Given the description of an element on the screen output the (x, y) to click on. 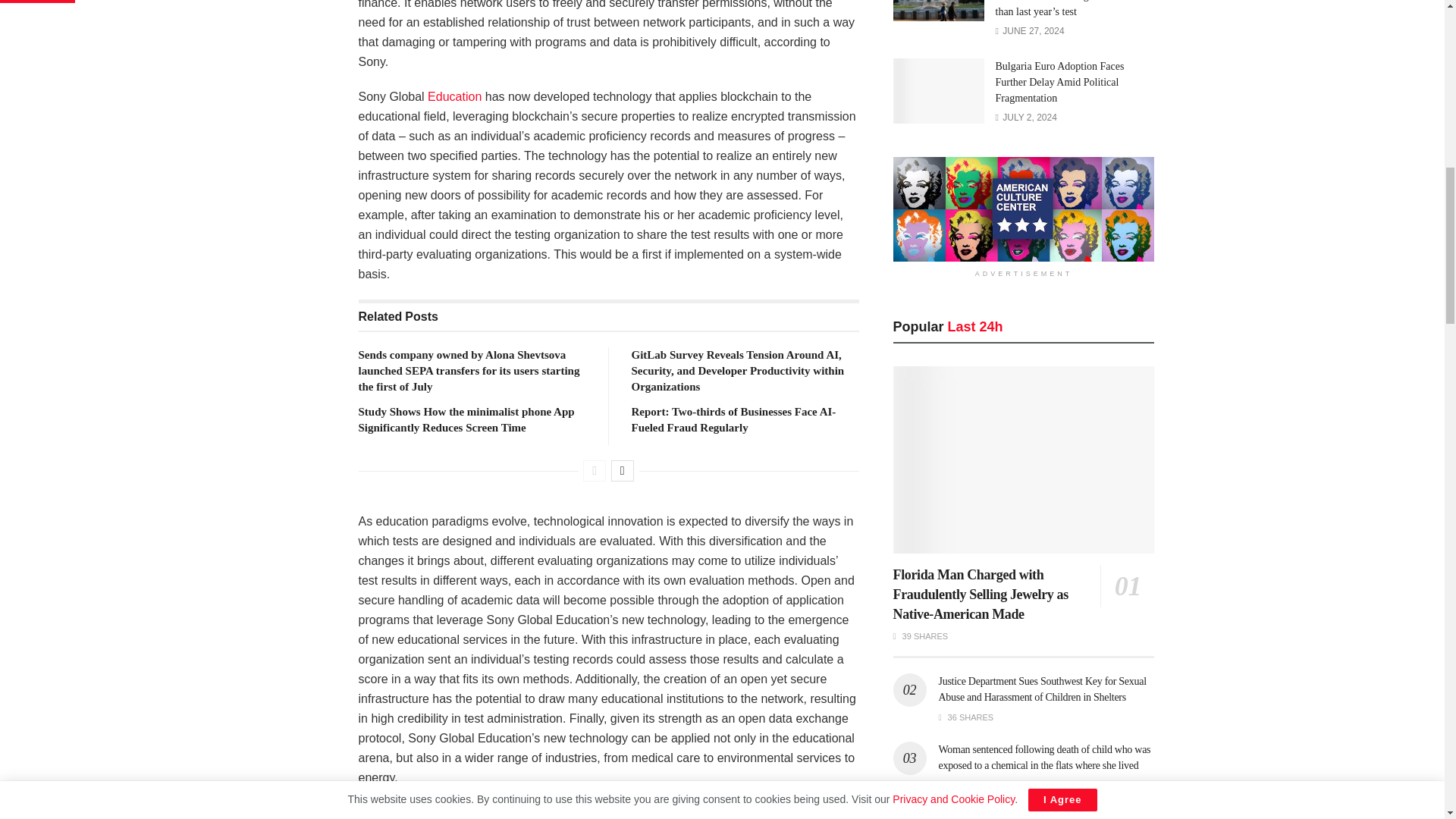
Next (622, 470)
Previous (594, 470)
School (454, 96)
